Given the description of an element on the screen output the (x, y) to click on. 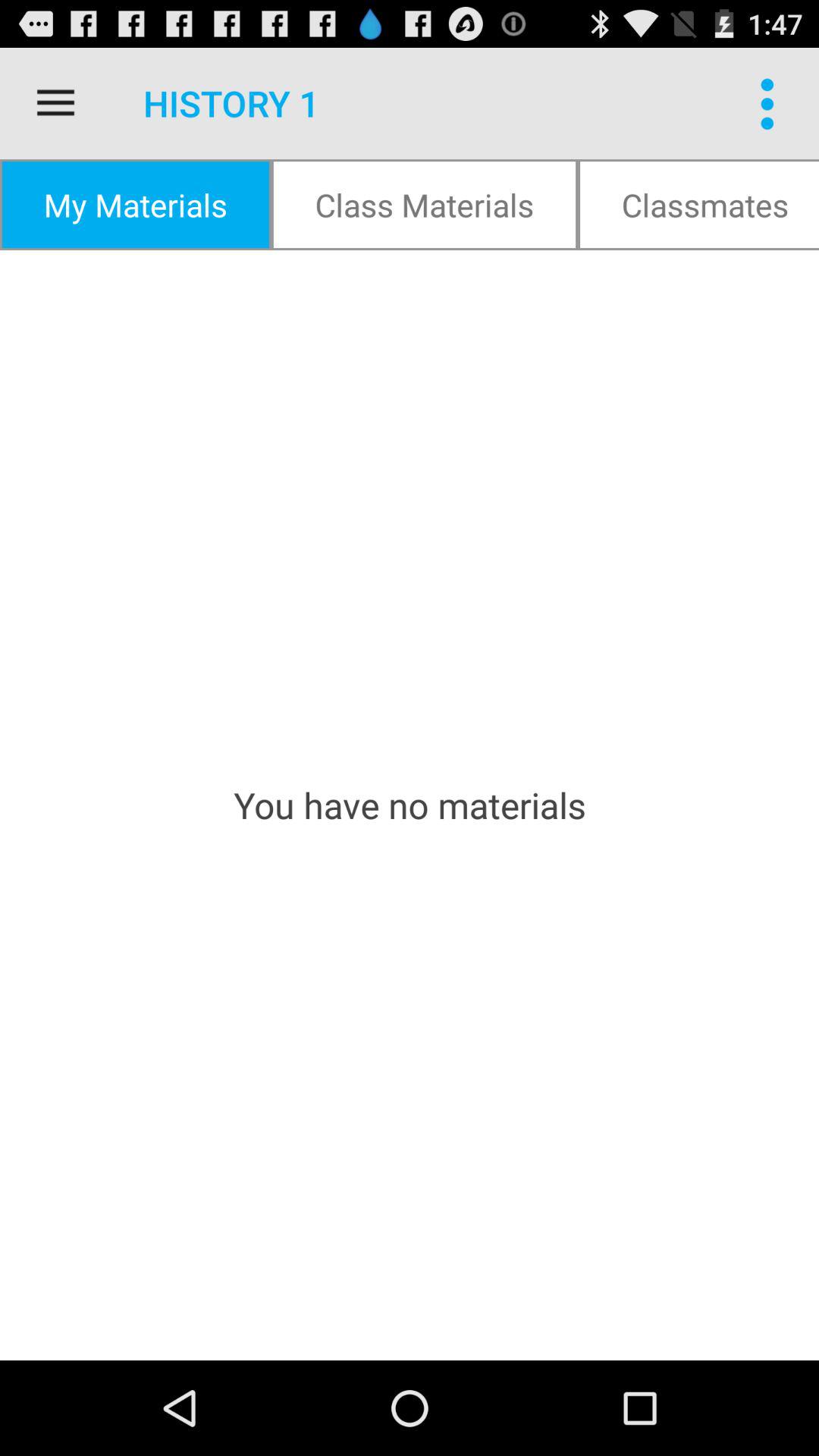
launch item next to the classmates (424, 204)
